Given the description of an element on the screen output the (x, y) to click on. 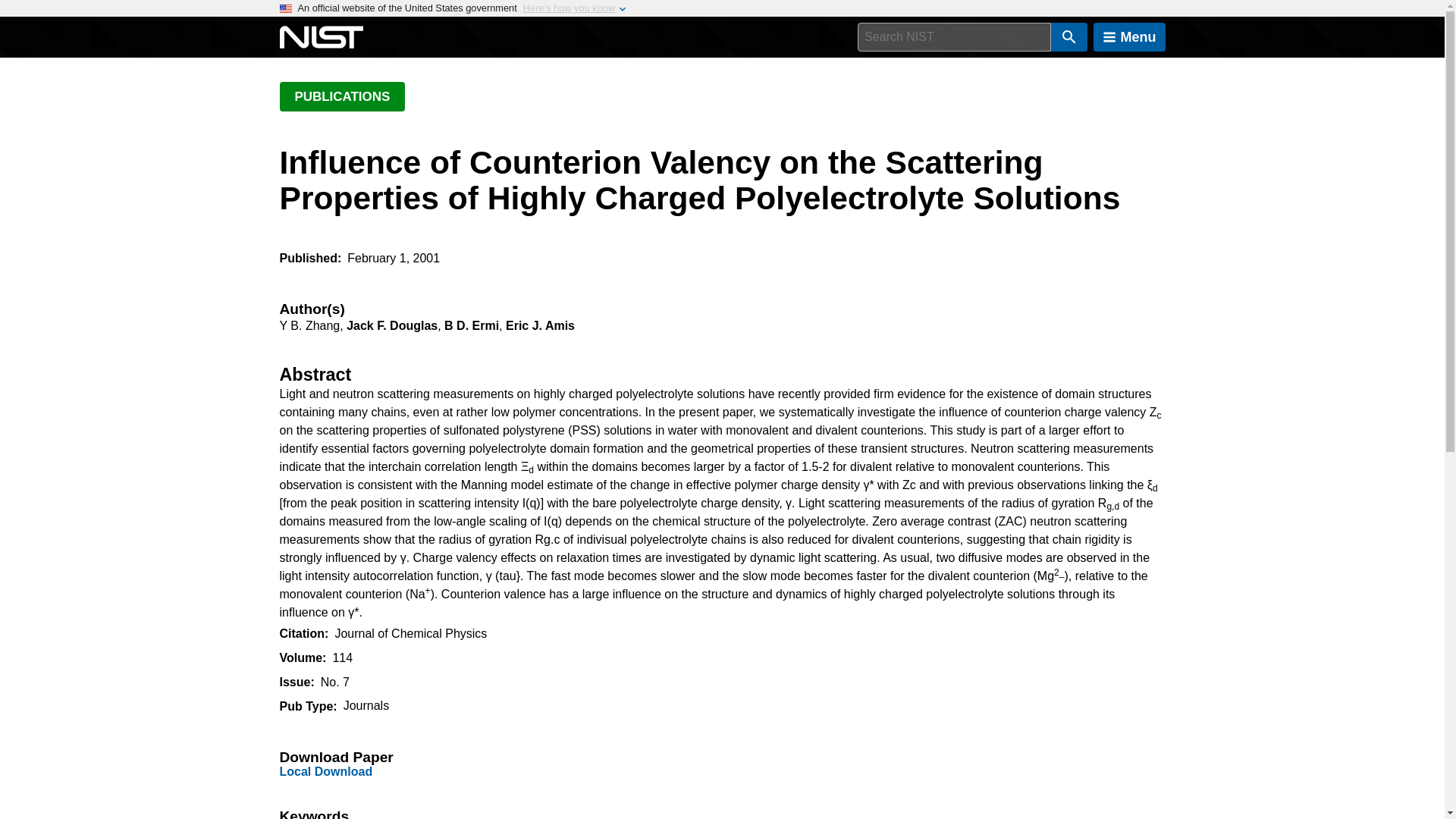
Local Download (325, 771)
PUBLICATIONS (341, 96)
Menu (1129, 36)
National Institute of Standards and Technology (320, 36)
